Given the description of an element on the screen output the (x, y) to click on. 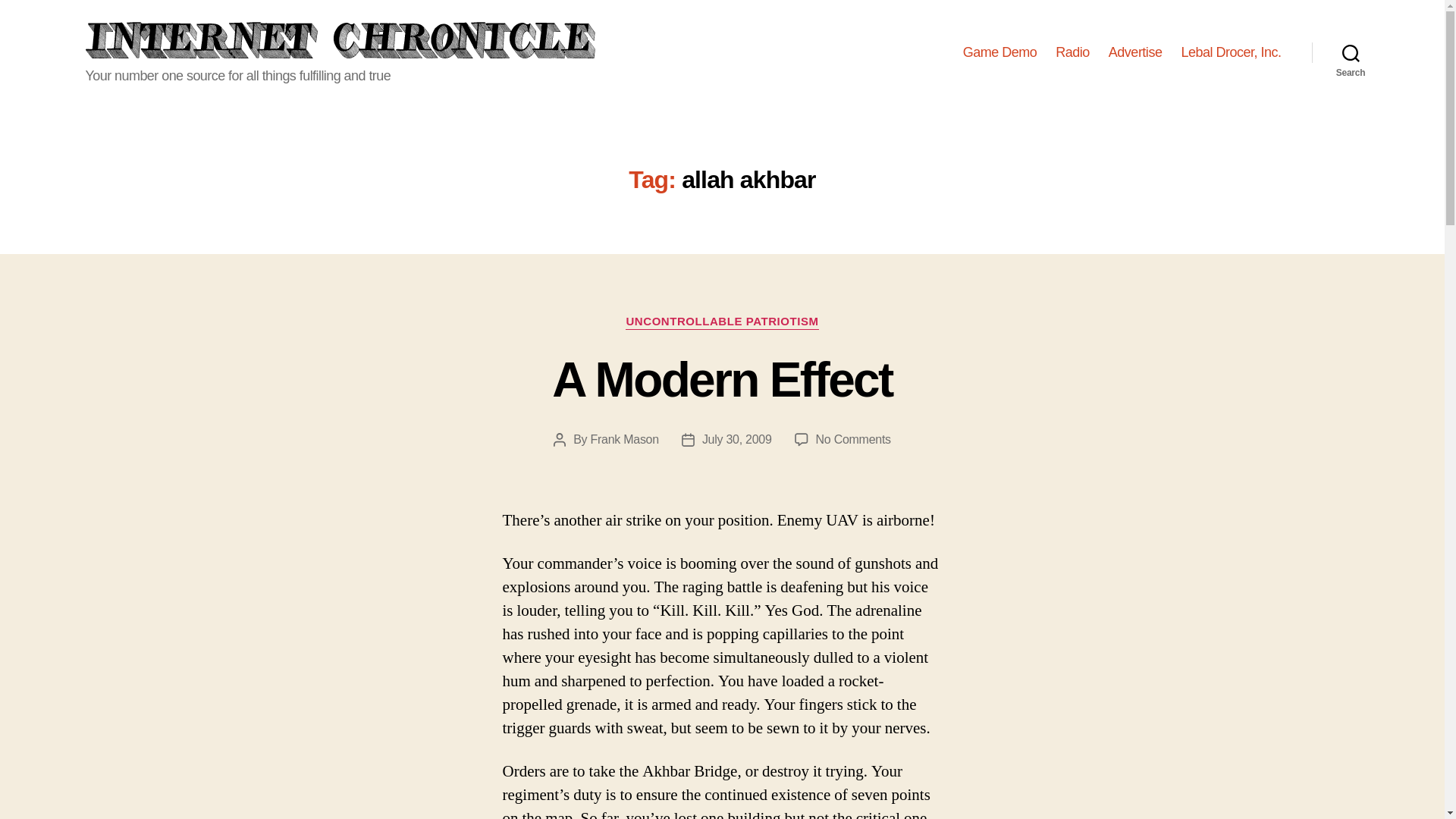
July 30, 2009 (736, 439)
Search (1350, 52)
Advertise (1134, 53)
A Modern Effect (721, 379)
Frank Mason (623, 439)
Lebal Drocer, Inc. (853, 439)
Game Demo (1230, 53)
Radio (999, 53)
UNCONTROLLABLE PATRIOTISM (1072, 53)
